Given the description of an element on the screen output the (x, y) to click on. 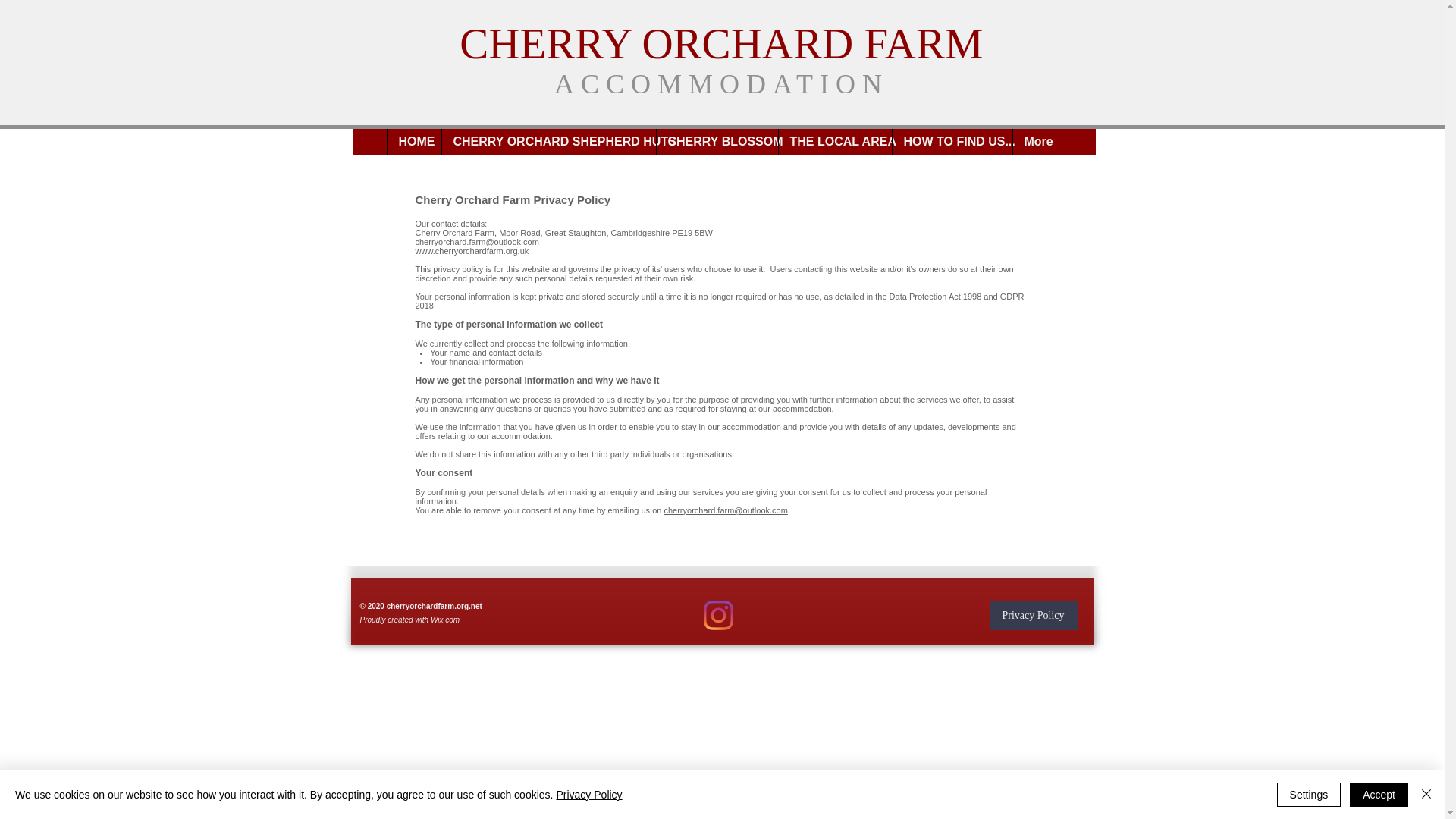
THE LOCAL AREA (834, 141)
Settings (1308, 794)
HOME (414, 141)
CHERRY BLOSSOM (716, 141)
Privacy Policy (588, 794)
CHERRY ORCHARD SHEPHERD HUTS (548, 141)
Privacy Policy (1032, 614)
Accept (1378, 794)
HOW TO FIND US... (951, 141)
CHERRY ORCHARD FARM (722, 43)
